Given the description of an element on the screen output the (x, y) to click on. 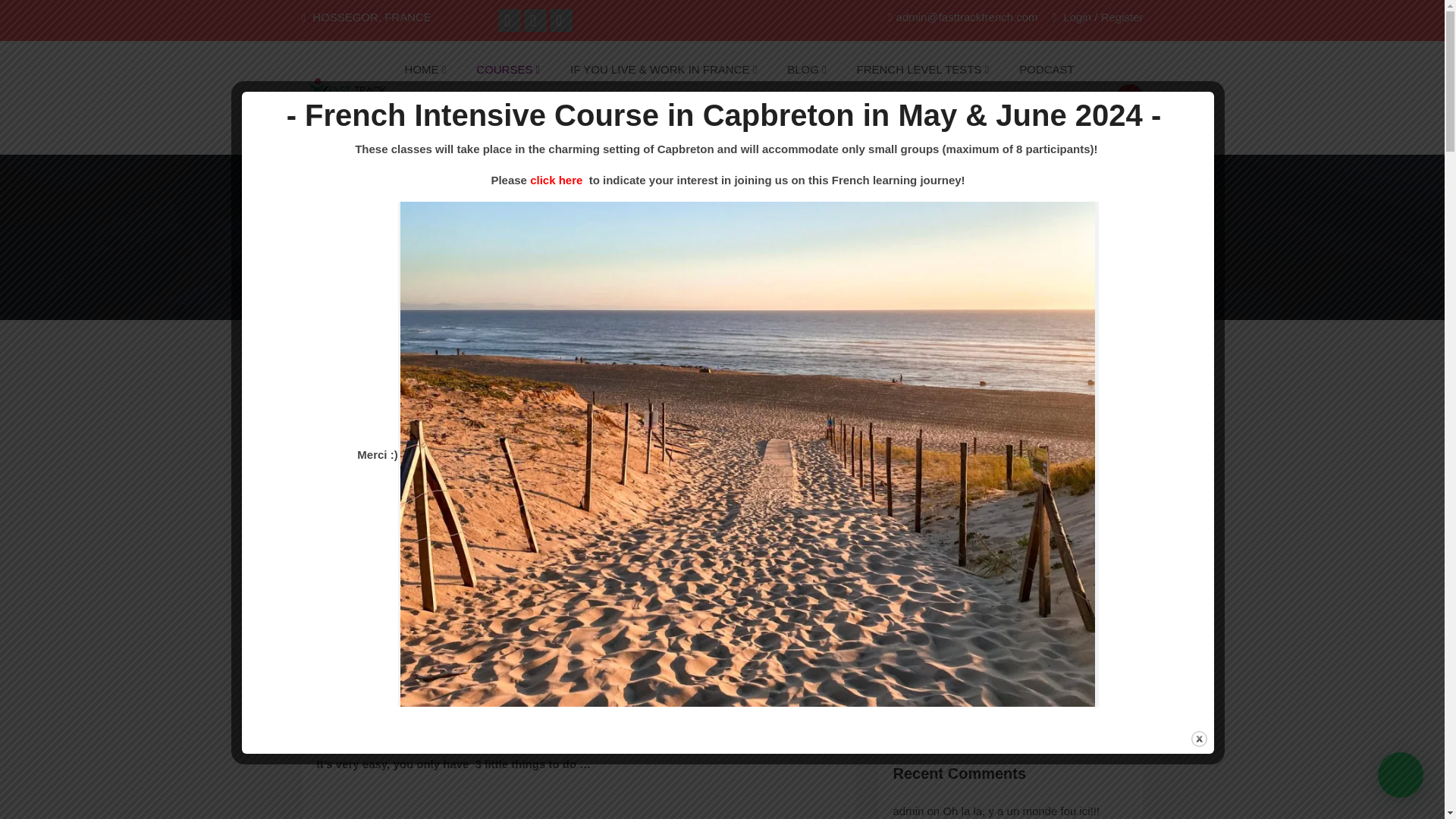
Instagram (535, 20)
EBOOKS (433, 125)
BLOG (806, 68)
PODCAST (1046, 68)
HOME (425, 68)
Register (1121, 16)
COURSES (507, 68)
Courses (507, 68)
Facebook (509, 20)
Login (1071, 16)
Home (425, 68)
YouTube (561, 20)
FRENCH LEVEL TESTS (922, 68)
